Given the description of an element on the screen output the (x, y) to click on. 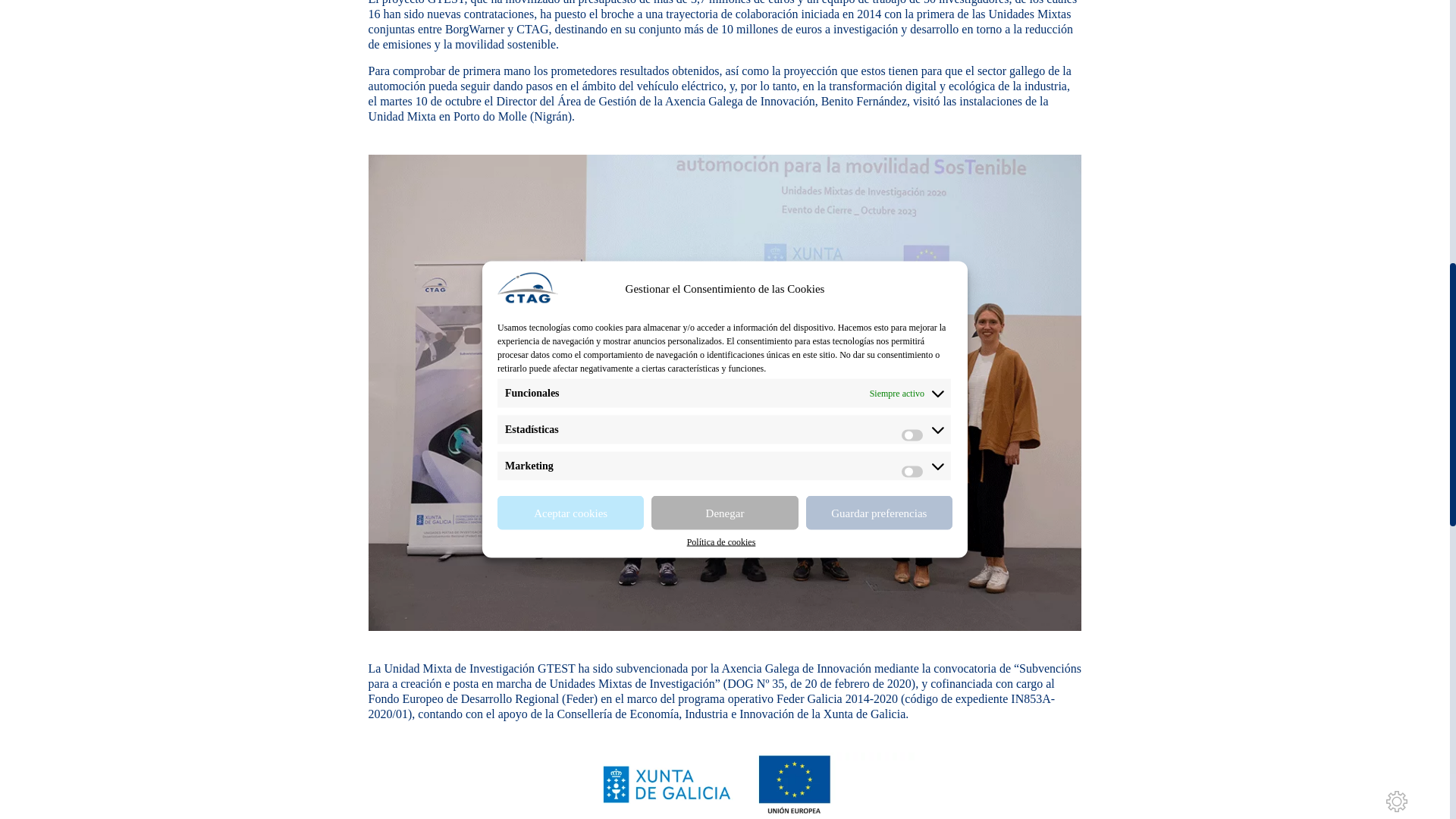
Aceptar cookies (570, 10)
